Given the description of an element on the screen output the (x, y) to click on. 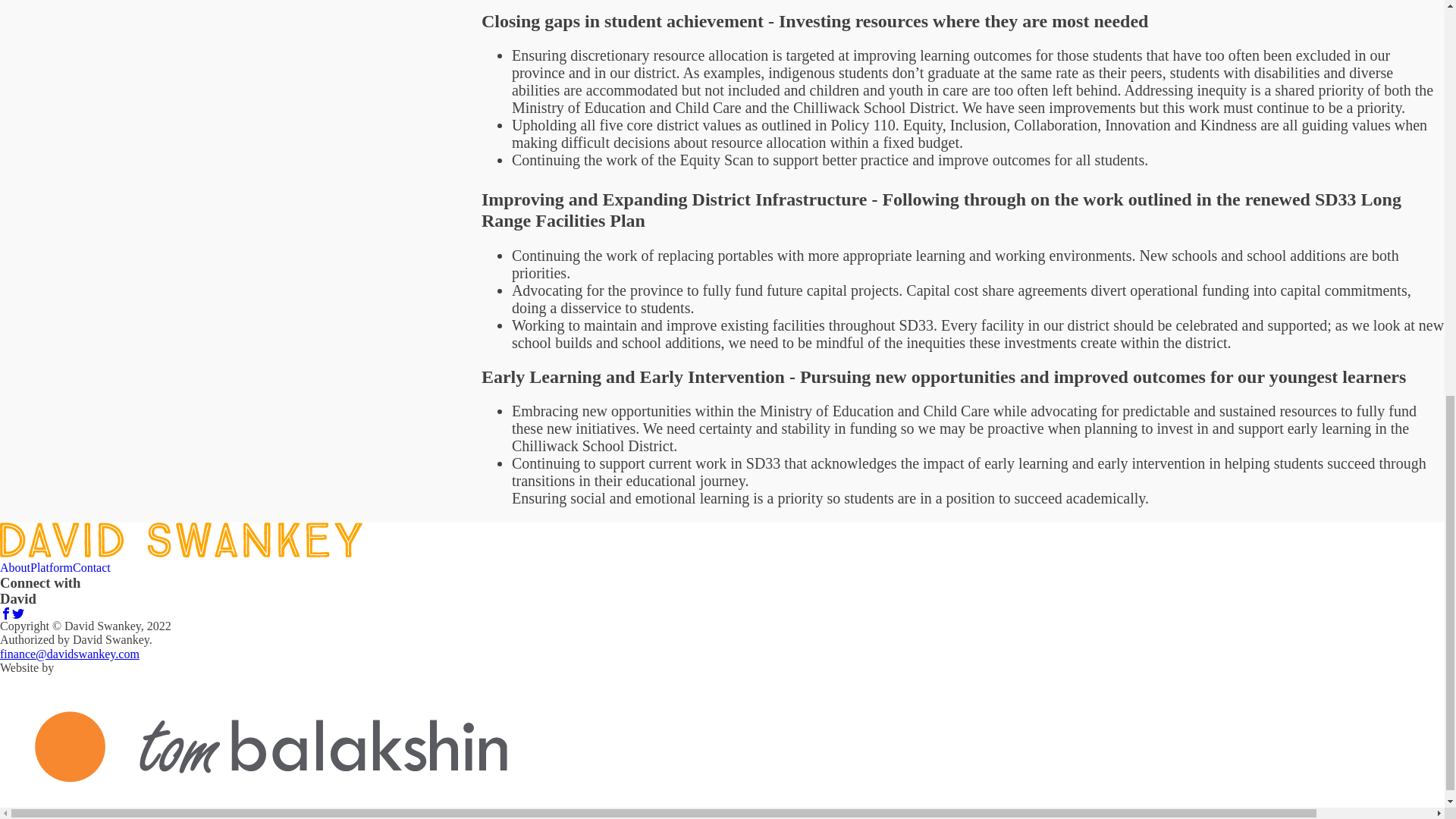
Platform (51, 567)
Contact (91, 567)
About (15, 567)
